Given the description of an element on the screen output the (x, y) to click on. 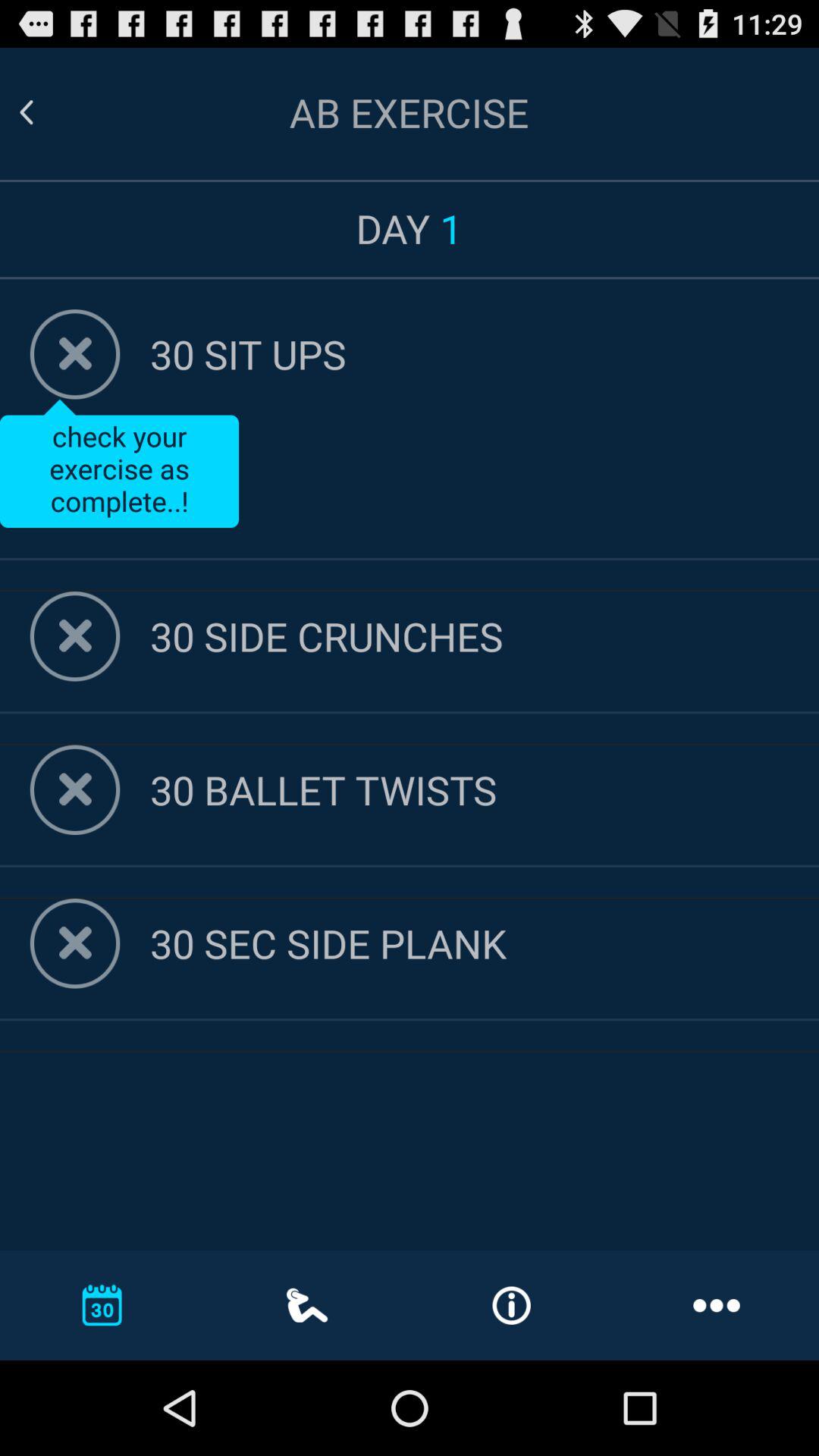
delete (75, 789)
